Given the description of an element on the screen output the (x, y) to click on. 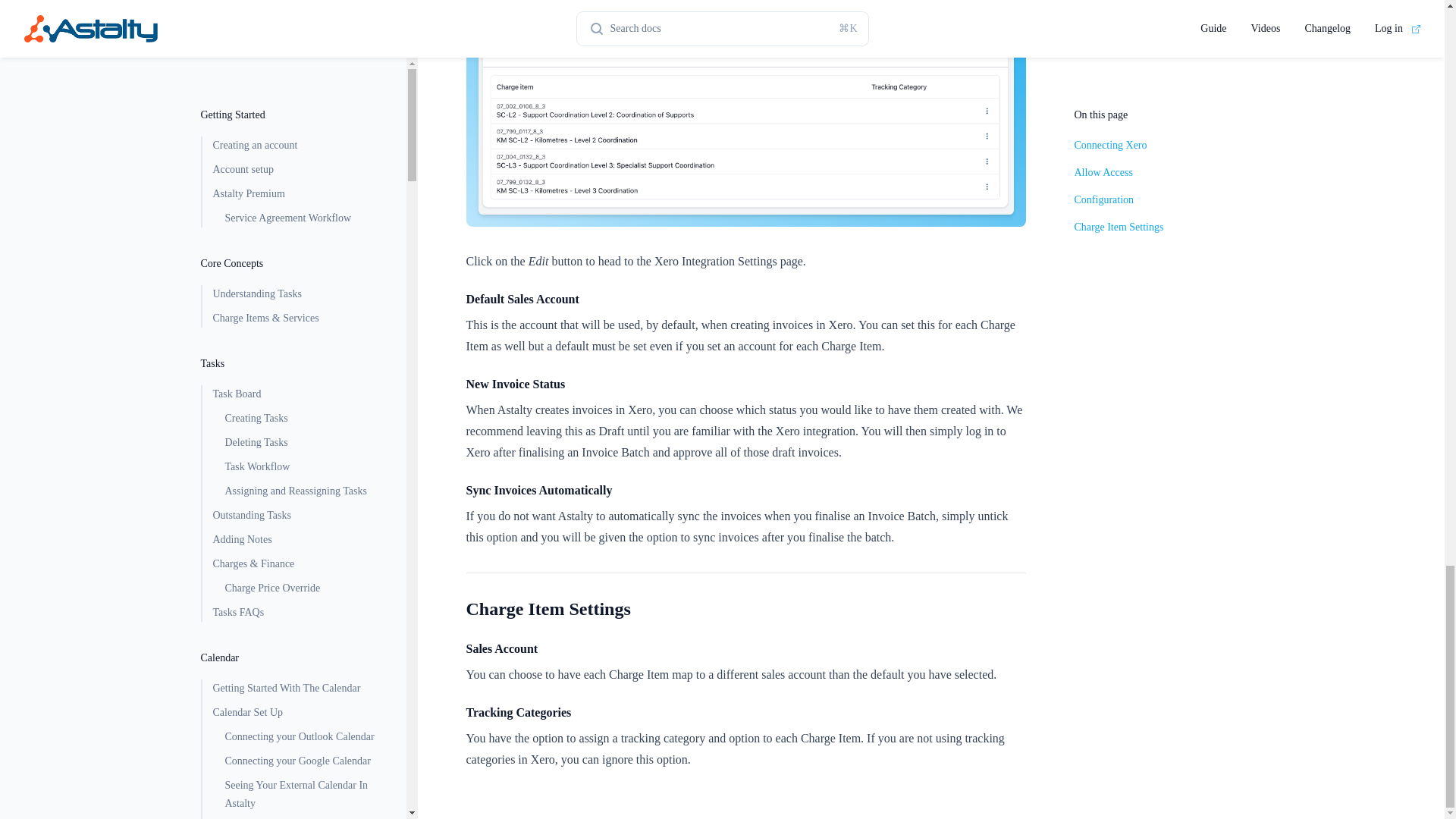
Voided Charges (303, 255)
Overview (297, 528)
Participant Goal Report (303, 61)
Overview (297, 355)
Creating Invoice Batches (303, 652)
Records (303, 36)
Finance (297, 207)
Plan Managers (297, 380)
Tags (303, 428)
